Given the description of an element on the screen output the (x, y) to click on. 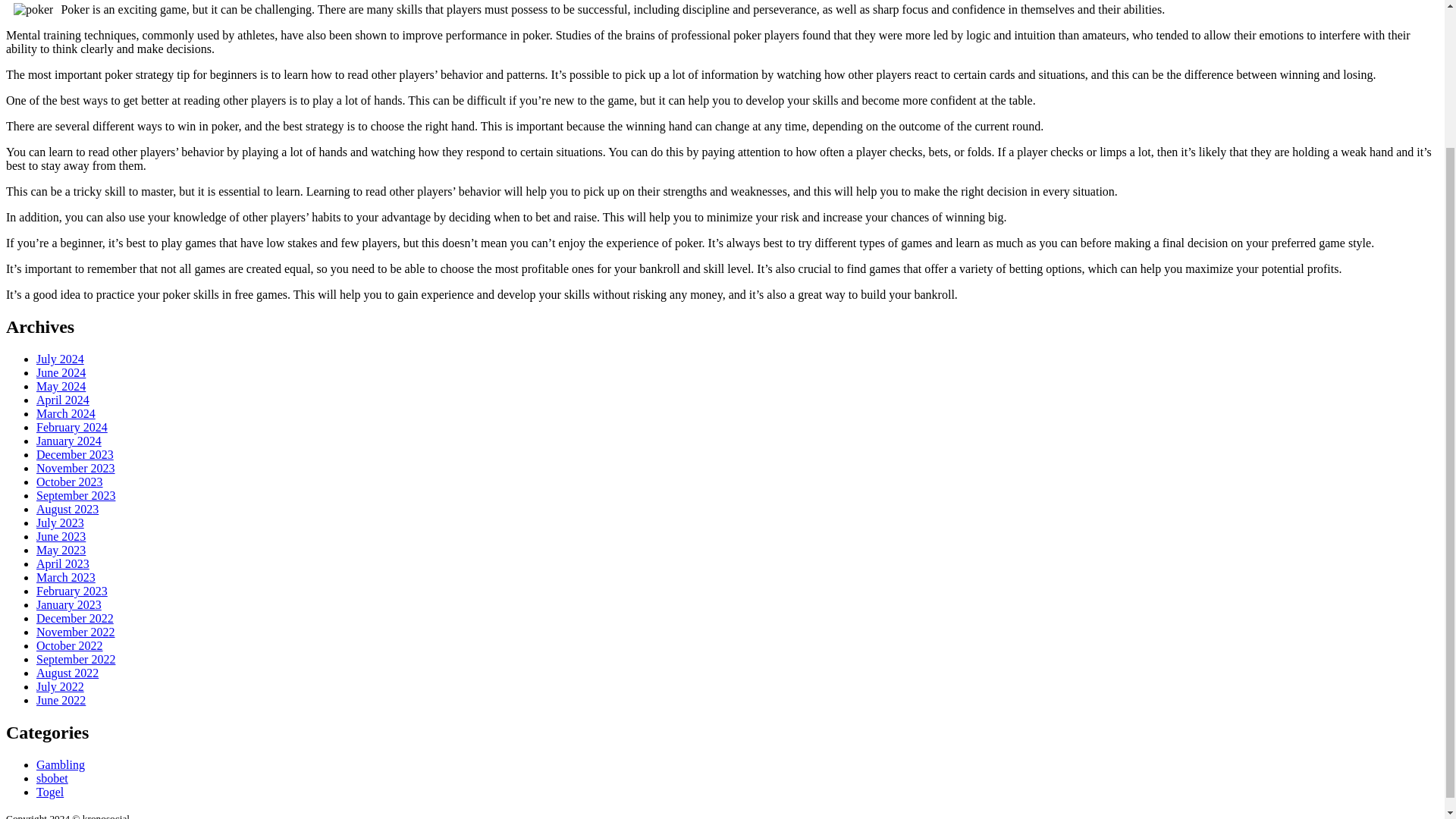
January 2023 (68, 604)
July 2022 (60, 686)
June 2023 (60, 535)
July 2023 (60, 522)
December 2022 (74, 617)
May 2023 (60, 549)
Togel (50, 790)
April 2024 (62, 399)
February 2024 (71, 427)
August 2022 (67, 672)
October 2023 (69, 481)
May 2024 (60, 386)
July 2024 (60, 358)
November 2023 (75, 468)
January 2024 (68, 440)
